Given the description of an element on the screen output the (x, y) to click on. 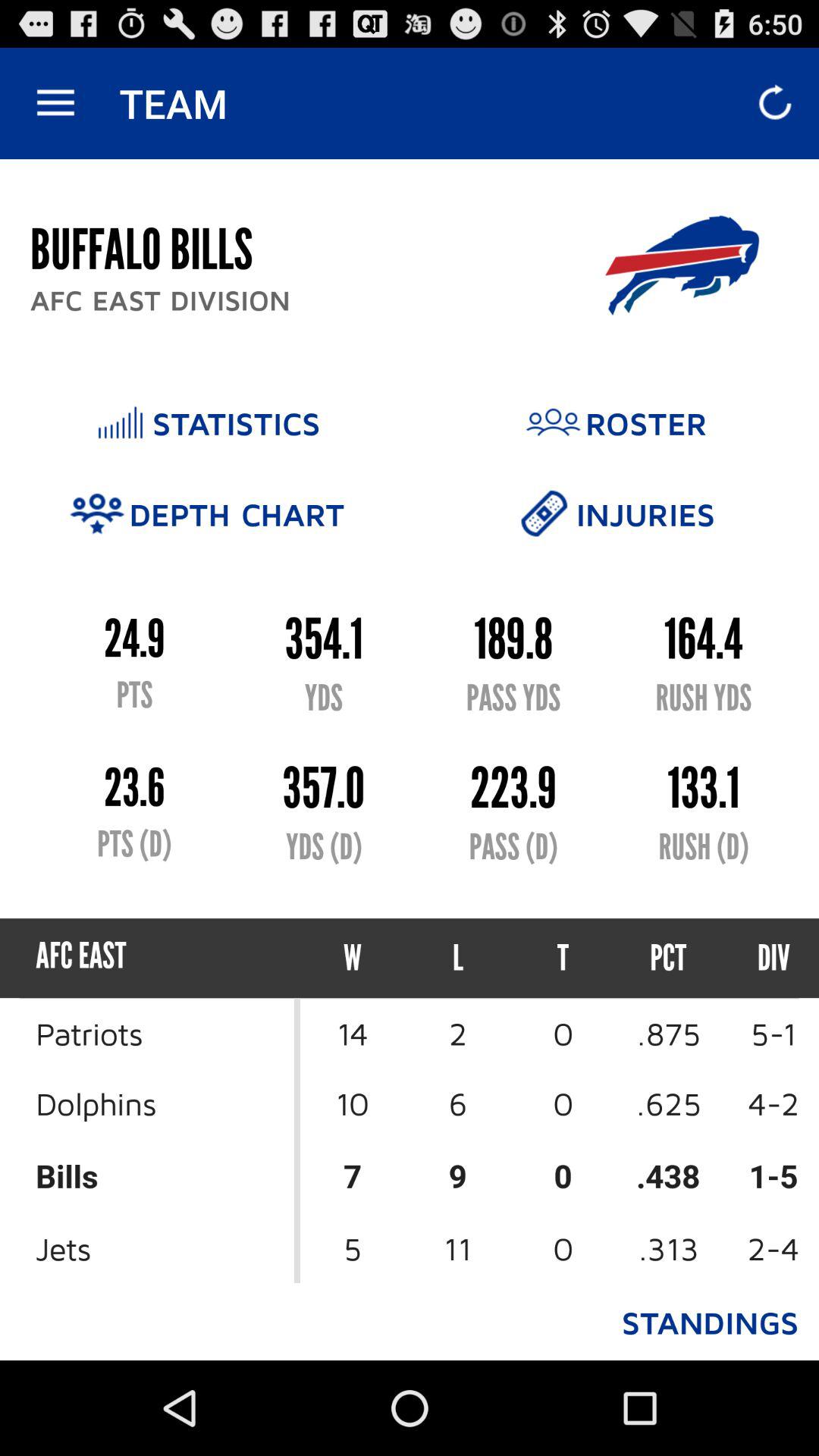
click the item to the right of l icon (562, 958)
